Given the description of an element on the screen output the (x, y) to click on. 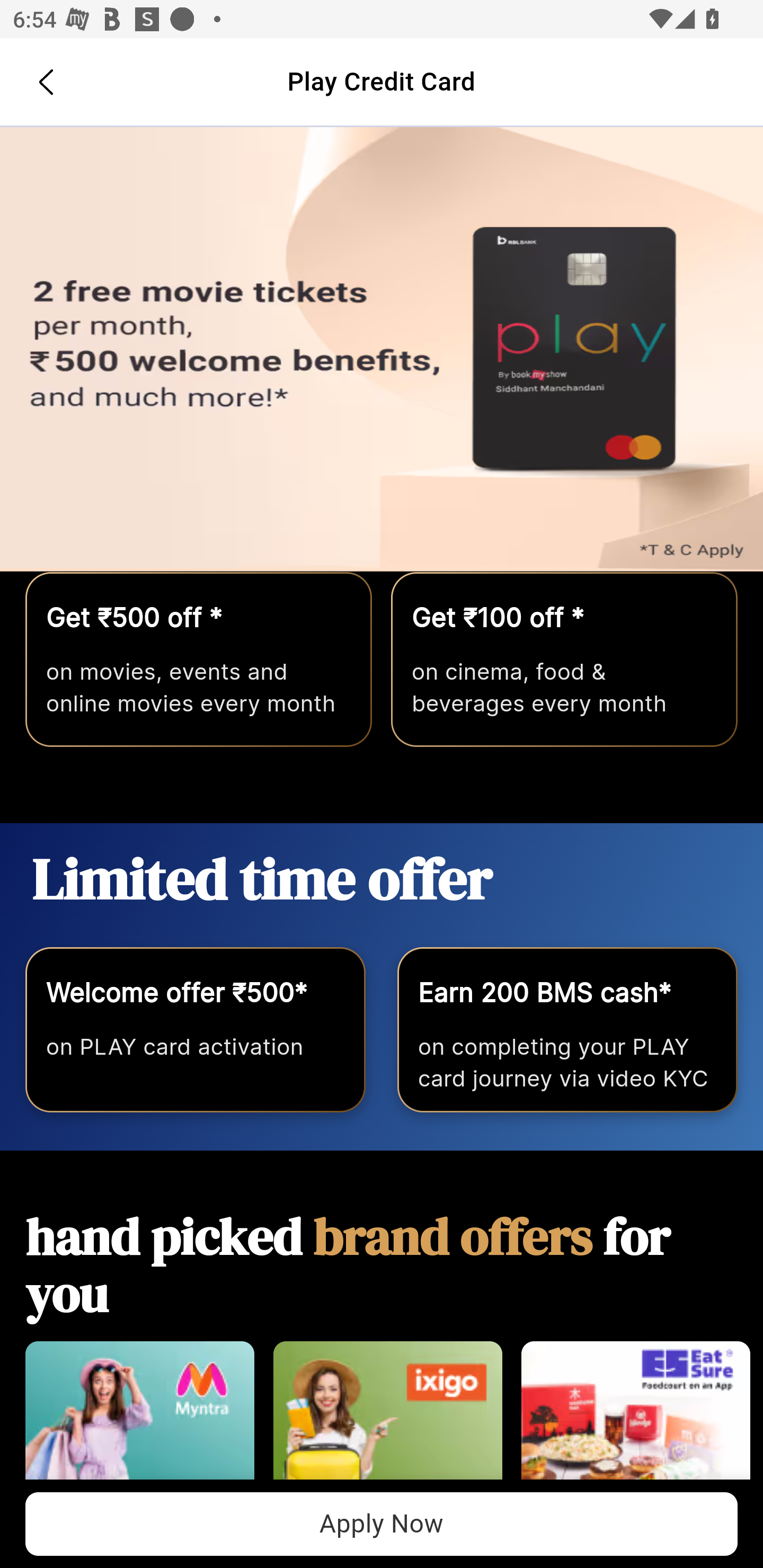
Apply Now (381, 349)
MYNTRA (139, 1419)
Ixigo (387, 1419)
EatSure (635, 1419)
Apply Now (381, 1523)
